Given the description of an element on the screen output the (x, y) to click on. 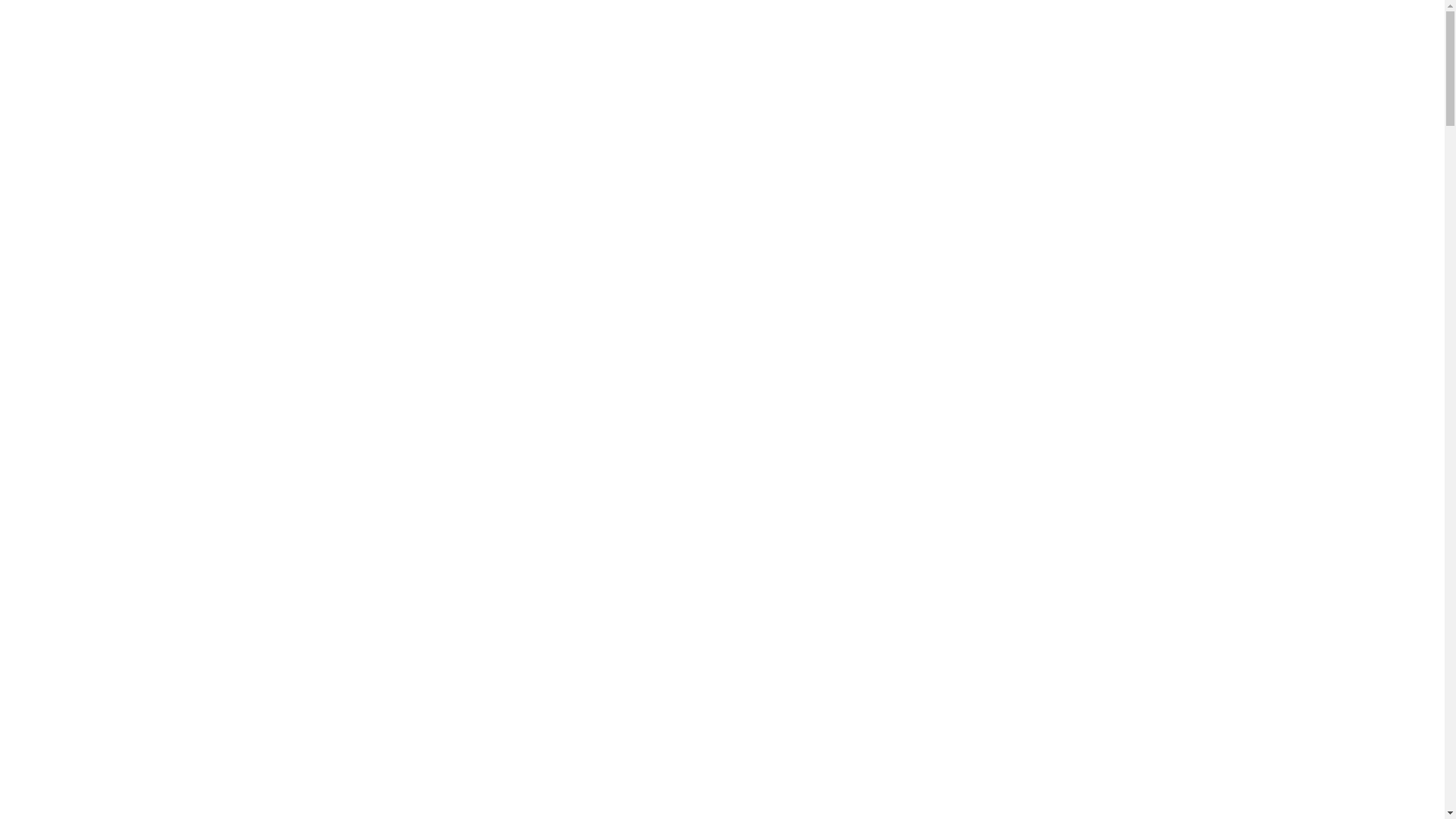
Services Element type: text (804, 65)
International Element type: text (1349, 65)
Contact Element type: text (1175, 65)
Team Element type: text (878, 65)
About Element type: text (728, 65)
mail@madderns.com.au Element type: text (1315, 34)
+61 8 8311 8311  Element type: text (1195, 34)
Play Video Element type: text (179, 697)
Industries Element type: text (957, 65)
News Element type: text (1110, 65)
Careers Element type: text (1250, 65)
Learn Element type: text (1045, 65)
